Given the description of an element on the screen output the (x, y) to click on. 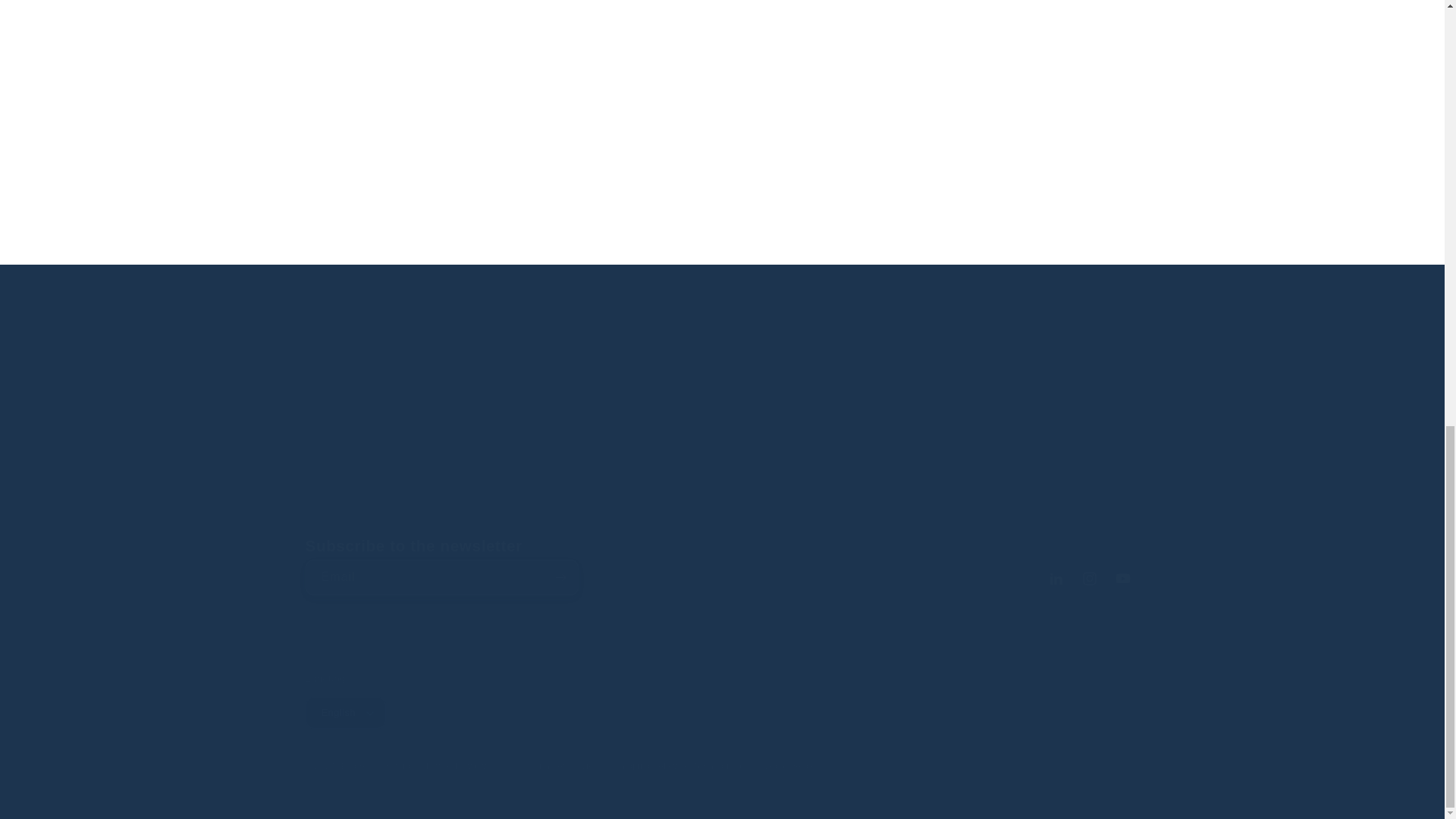
Robotics (406, 444)
Special machines (890, 230)
Pharmaceutical (1058, 86)
Agricultural and construction (722, 230)
Handling (553, 86)
Defense (385, 230)
